Given the description of an element on the screen output the (x, y) to click on. 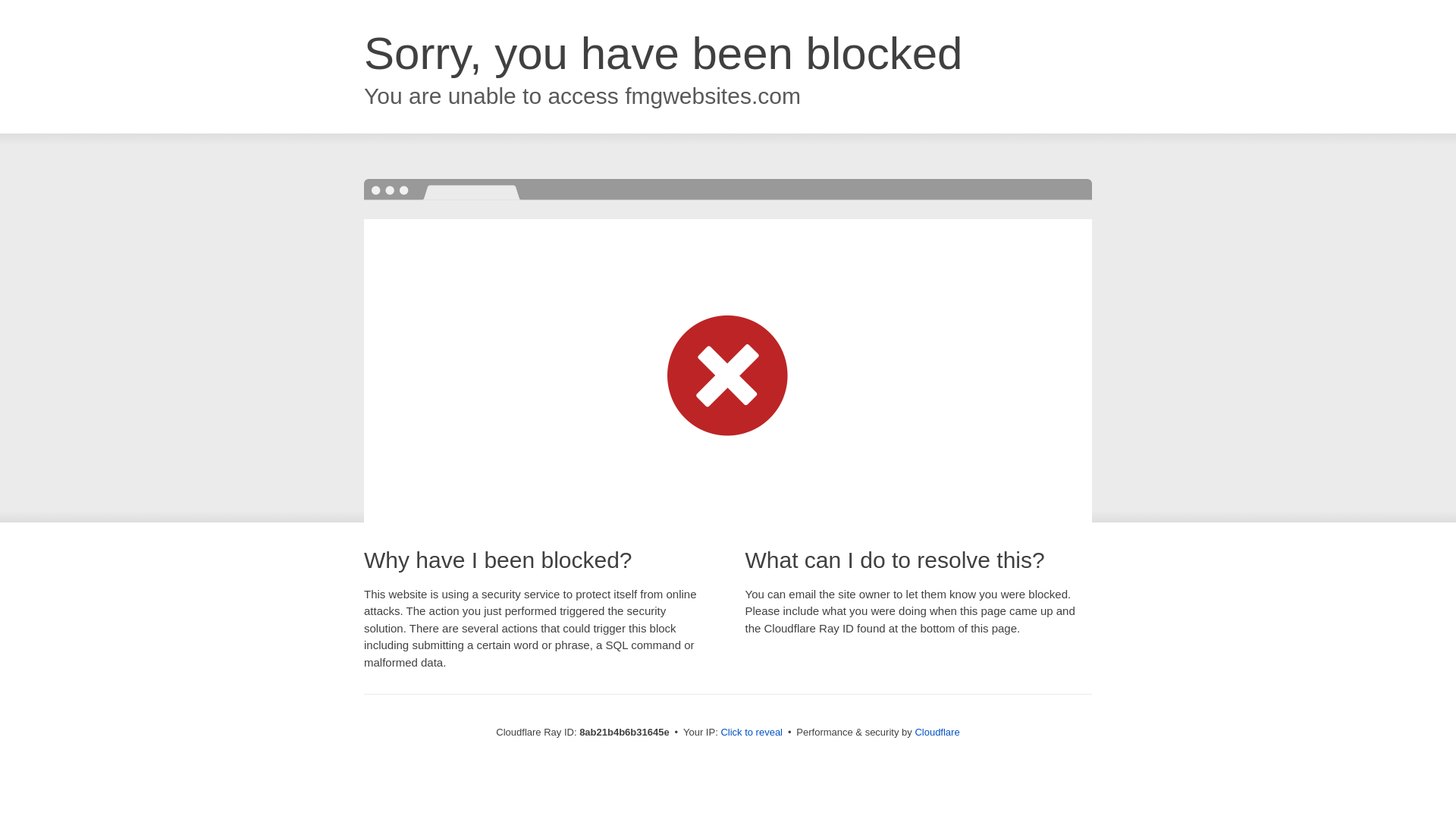
Click to reveal (751, 732)
Cloudflare (936, 731)
